Given the description of an element on the screen output the (x, y) to click on. 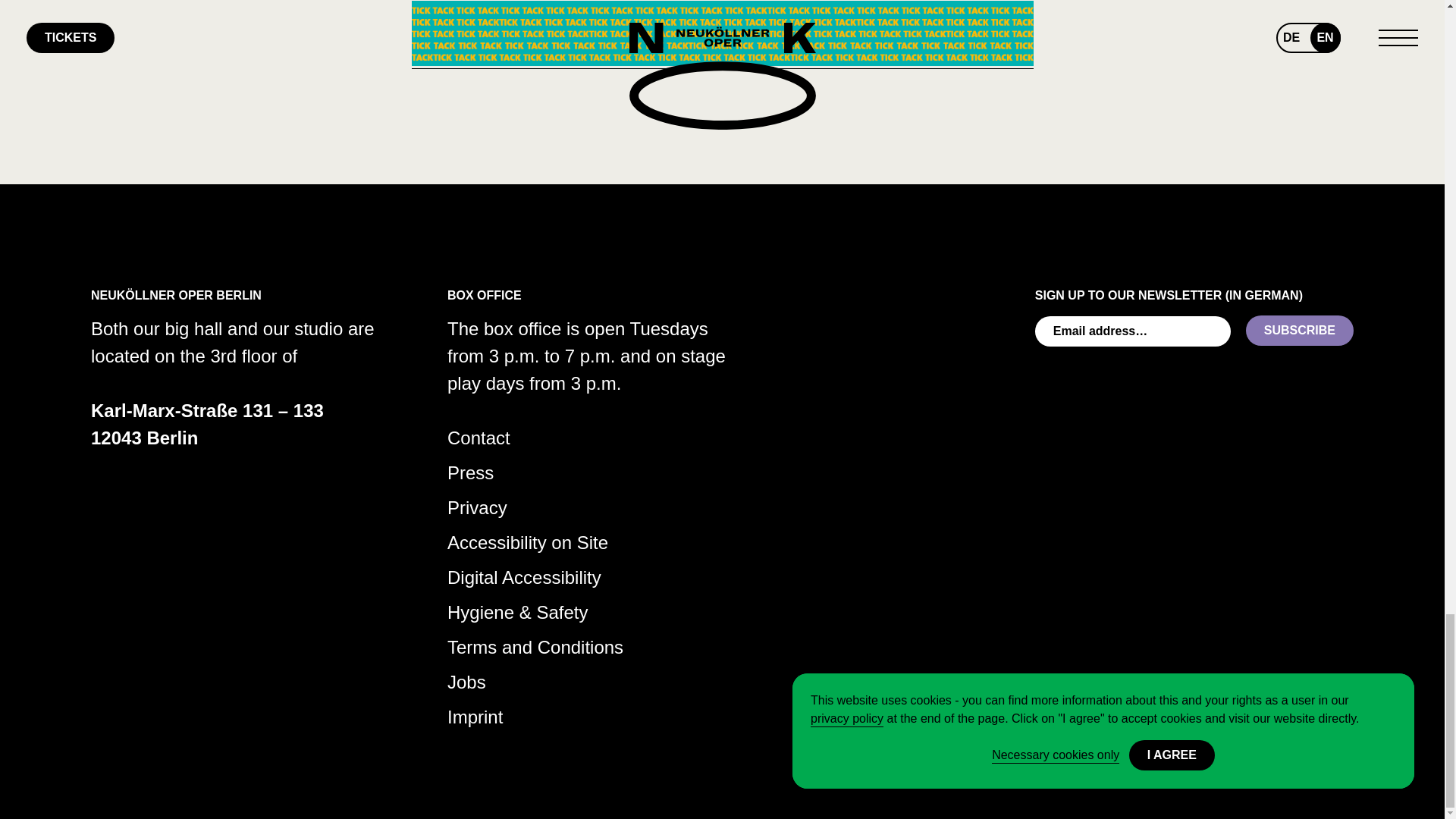
Press (469, 473)
Privacy (476, 508)
Accessibility on Site (527, 543)
Contact (478, 438)
SUBSCRIBE (1300, 330)
